Given the description of an element on the screen output the (x, y) to click on. 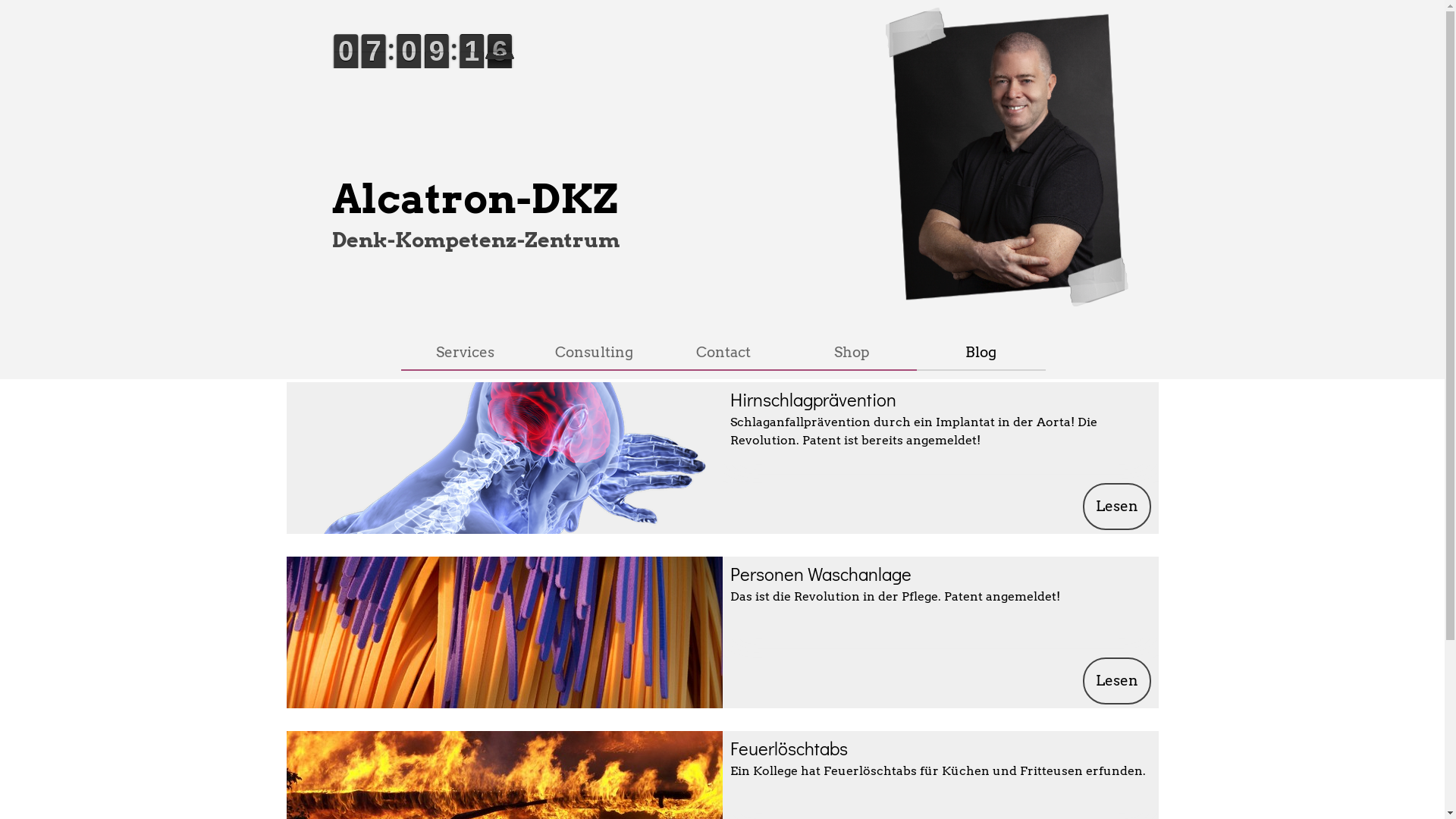
9
9 Element type: text (419, 68)
0 Element type: text (482, 68)
Lesen Element type: text (1116, 680)
Denk-Kompetenz-Zentrum Element type: text (475, 239)
9
9 Element type: text (356, 68)
Personen Waschanlage Element type: text (819, 573)
5
5 Element type: text (510, 68)
Blog Element type: text (980, 352)
Services Element type: text (464, 352)
Shop Element type: text (851, 352)
8 Element type: text (447, 68)
Alcatron-DKZ Element type: text (475, 198)
Consulting Element type: text (593, 352)
Contact Element type: text (722, 352)
Lesen Element type: text (1116, 506)
6
6 Element type: text (383, 68)
